Given the description of an element on the screen output the (x, y) to click on. 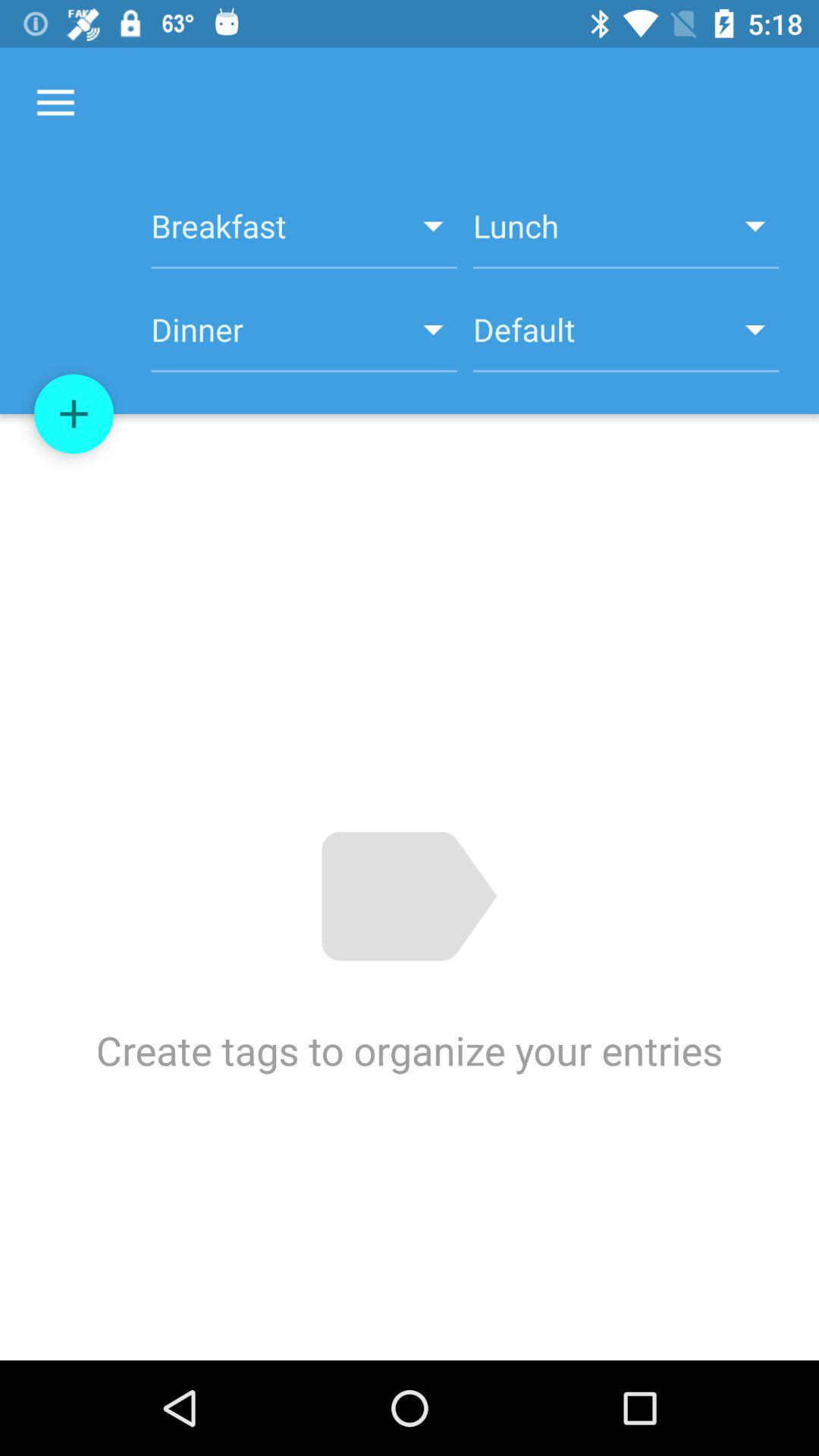
select item to the right of dinner item (626, 338)
